Given the description of an element on the screen output the (x, y) to click on. 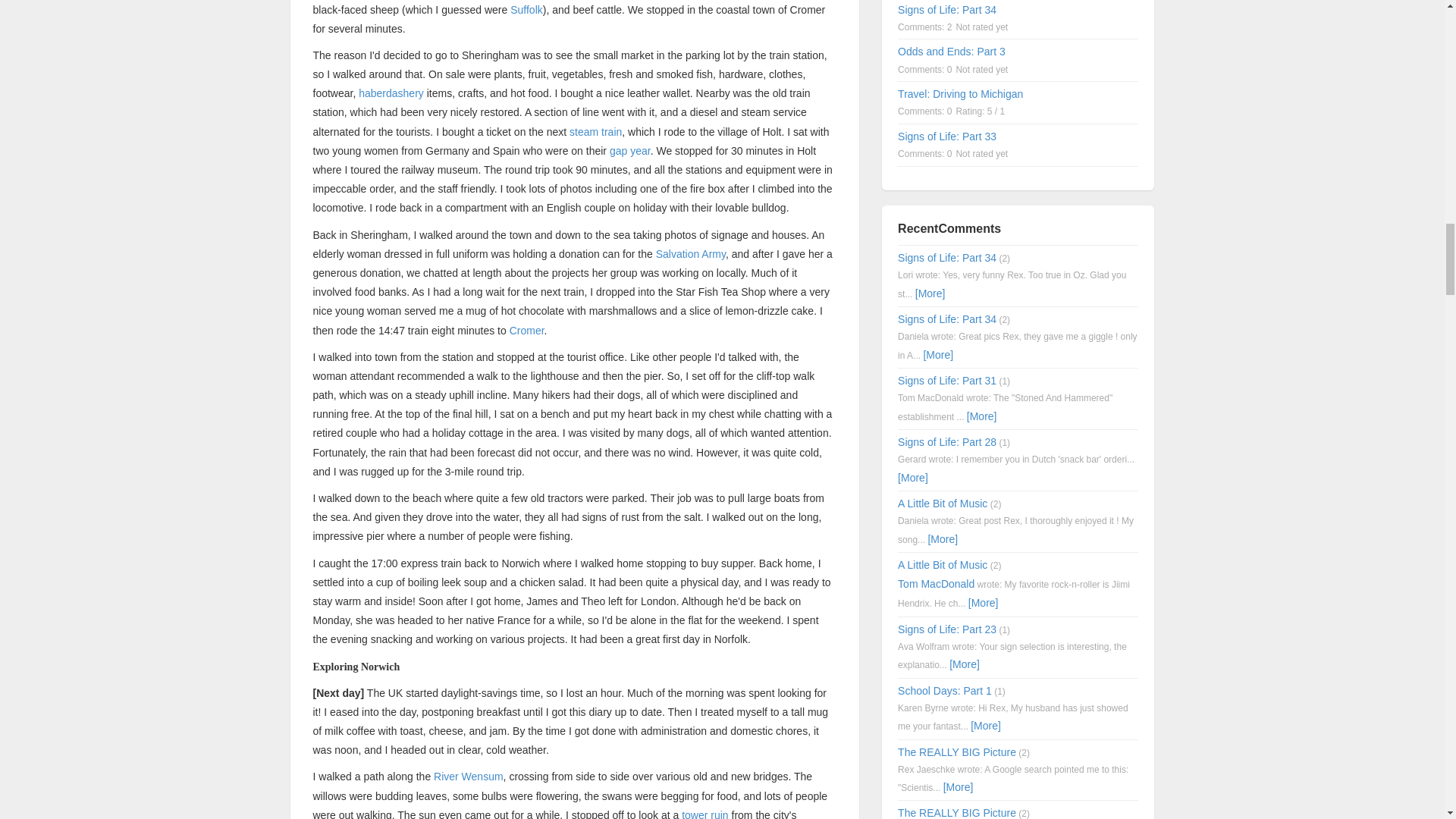
Cromer (526, 330)
Salvation Army (690, 254)
Suffolk (527, 9)
haberdashery (390, 92)
steam train (595, 132)
gap year (630, 150)
